Given the description of an element on the screen output the (x, y) to click on. 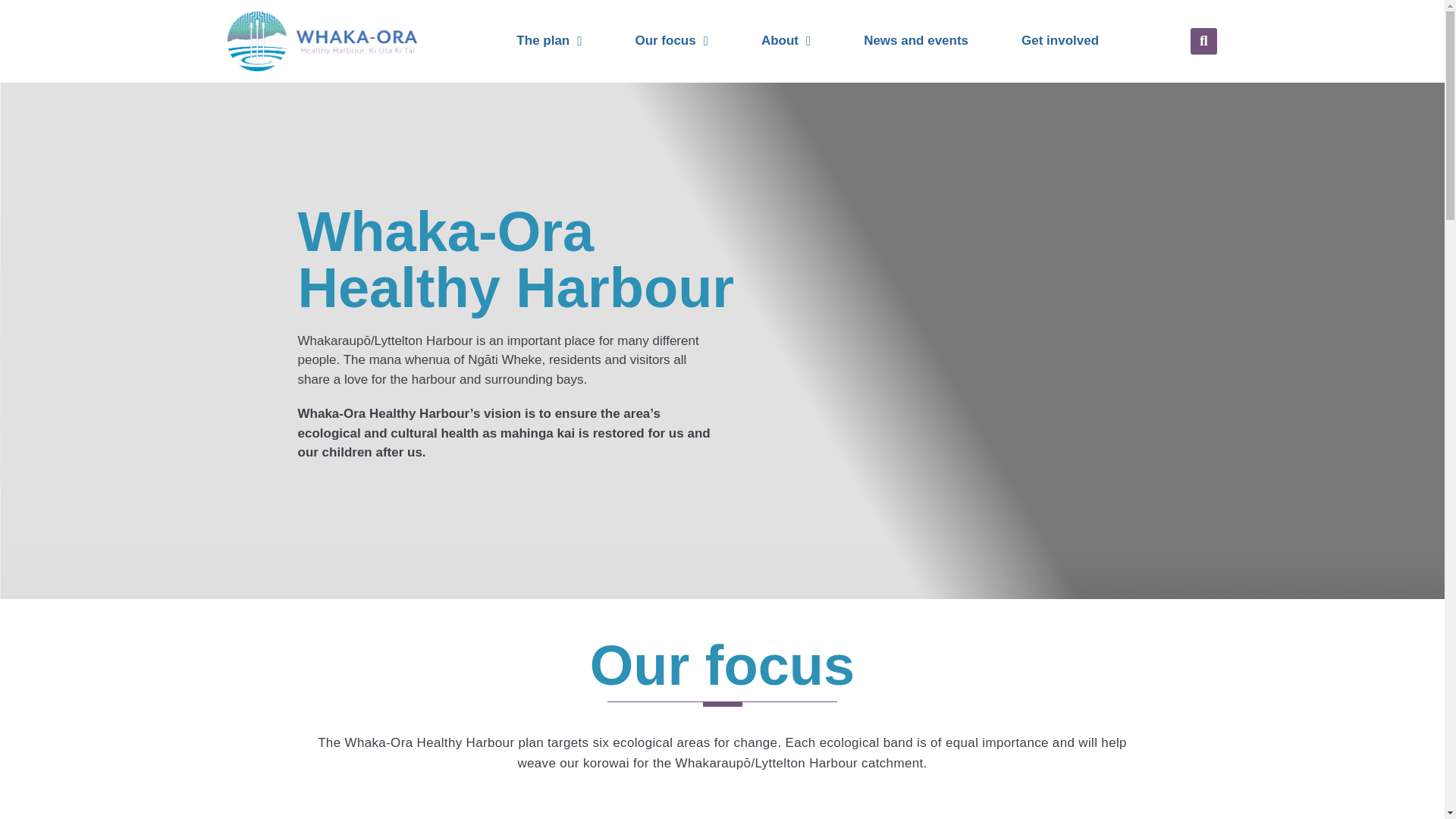
News and events (915, 40)
About (786, 40)
Our focus (670, 40)
Get involved (1059, 40)
The plan (548, 40)
